Given the description of an element on the screen output the (x, y) to click on. 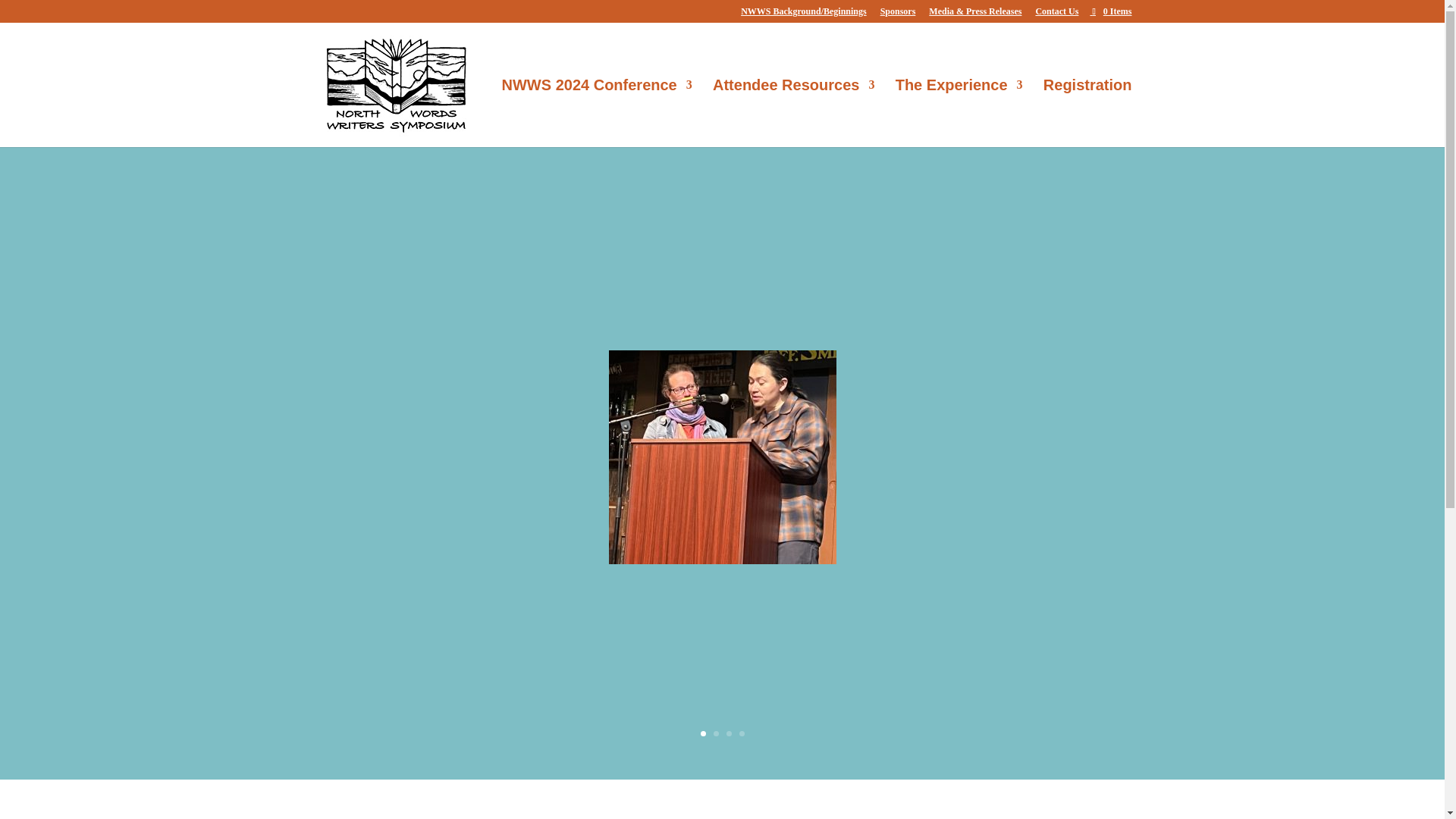
Attendee Resources (794, 113)
NWWS 2024 Conference (597, 113)
Sponsors (897, 14)
Contact Us (1056, 14)
The Experience (959, 113)
0 Items (1110, 10)
Registration (1087, 113)
